Given the description of an element on the screen output the (x, y) to click on. 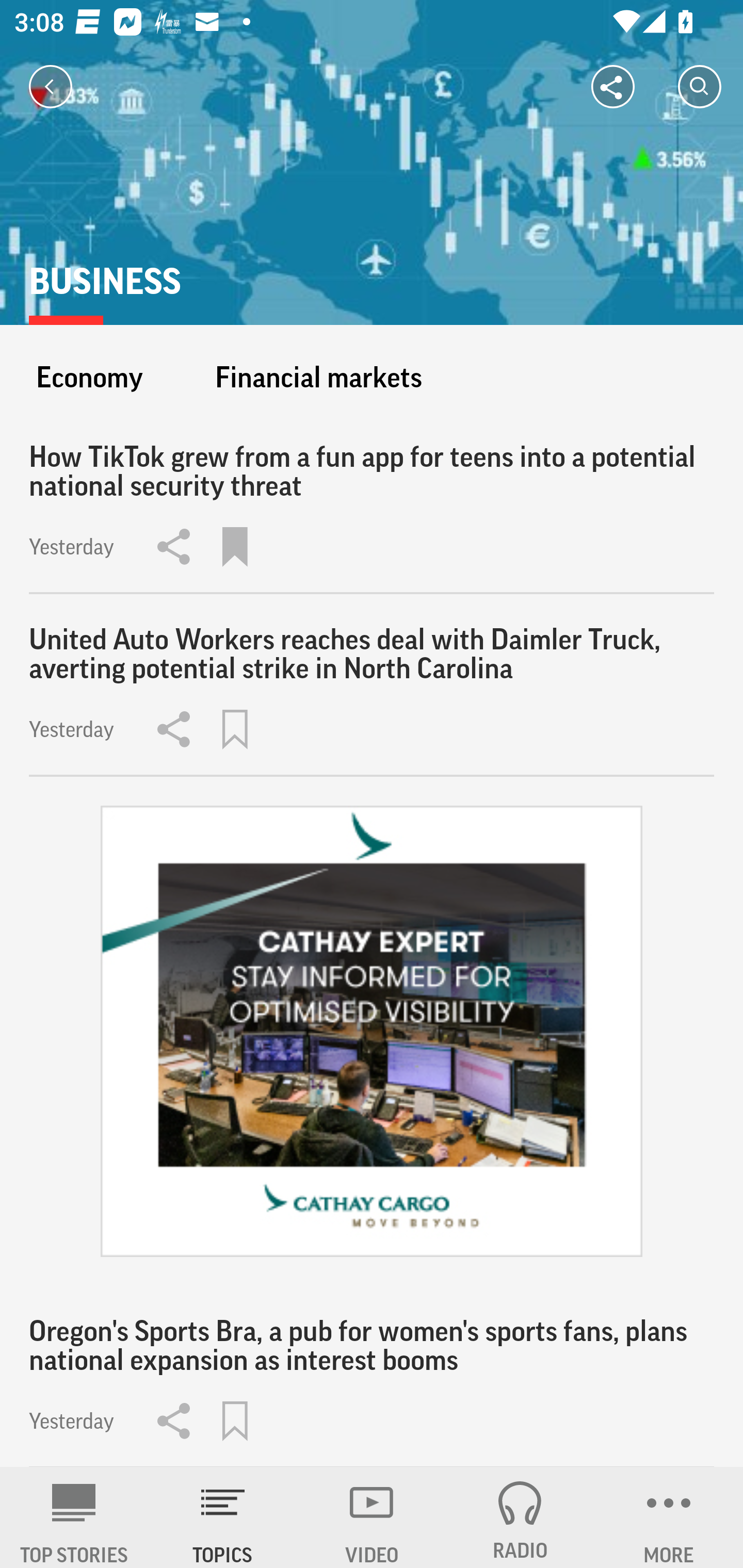
Economy (89, 376)
Financial markets (317, 376)
Advertisement (371, 1031)
AP News TOP STORIES (74, 1517)
TOPICS (222, 1517)
VIDEO (371, 1517)
RADIO (519, 1517)
MORE (668, 1517)
